Given the description of an element on the screen output the (x, y) to click on. 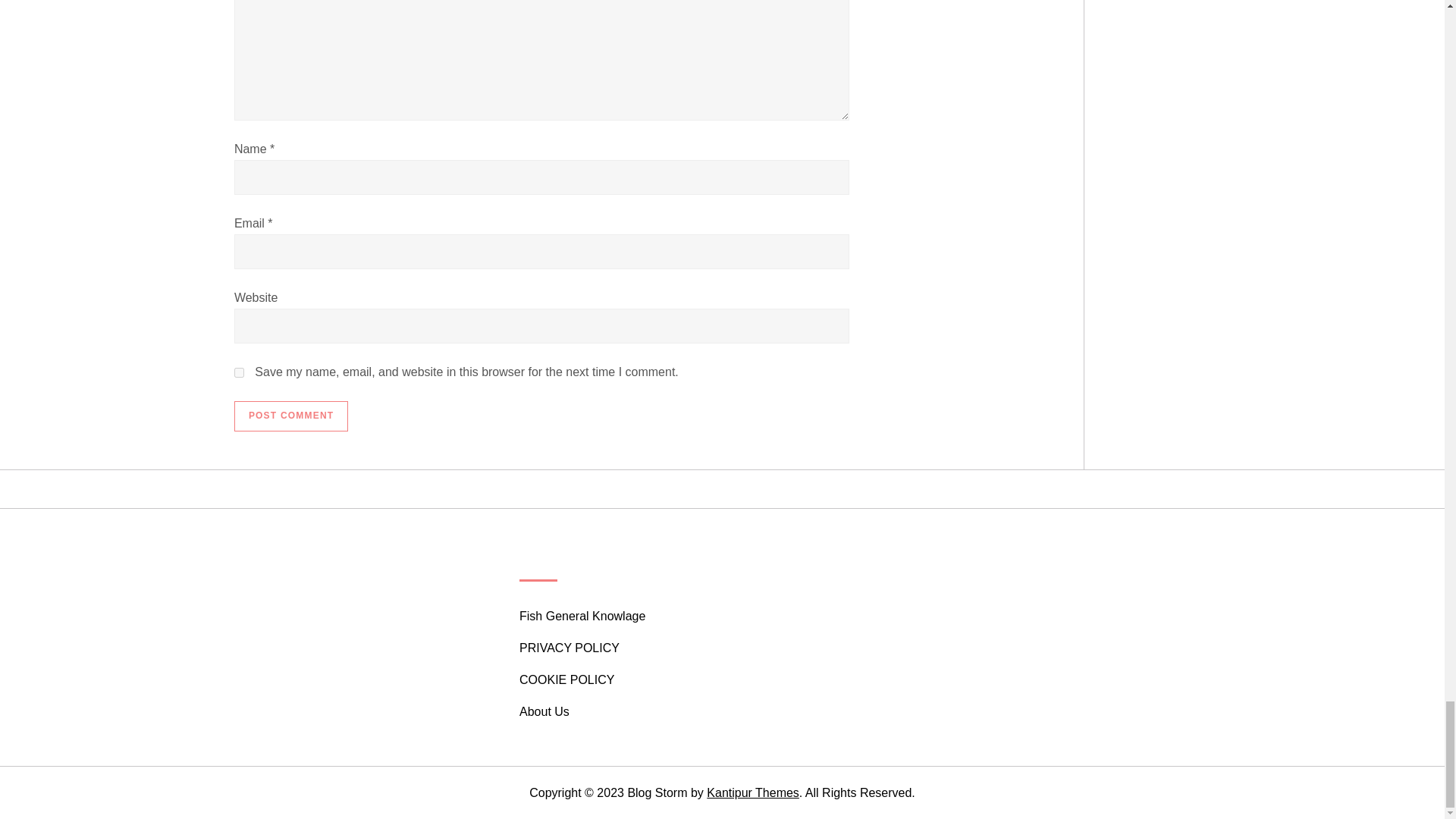
COOKIE POLICY (566, 680)
Post Comment (290, 416)
About Us (544, 711)
Kantipur Themes (752, 792)
PRIVACY POLICY (569, 648)
yes (239, 372)
Fish General Knowlage (582, 616)
Post Comment (290, 416)
